Given the description of an element on the screen output the (x, y) to click on. 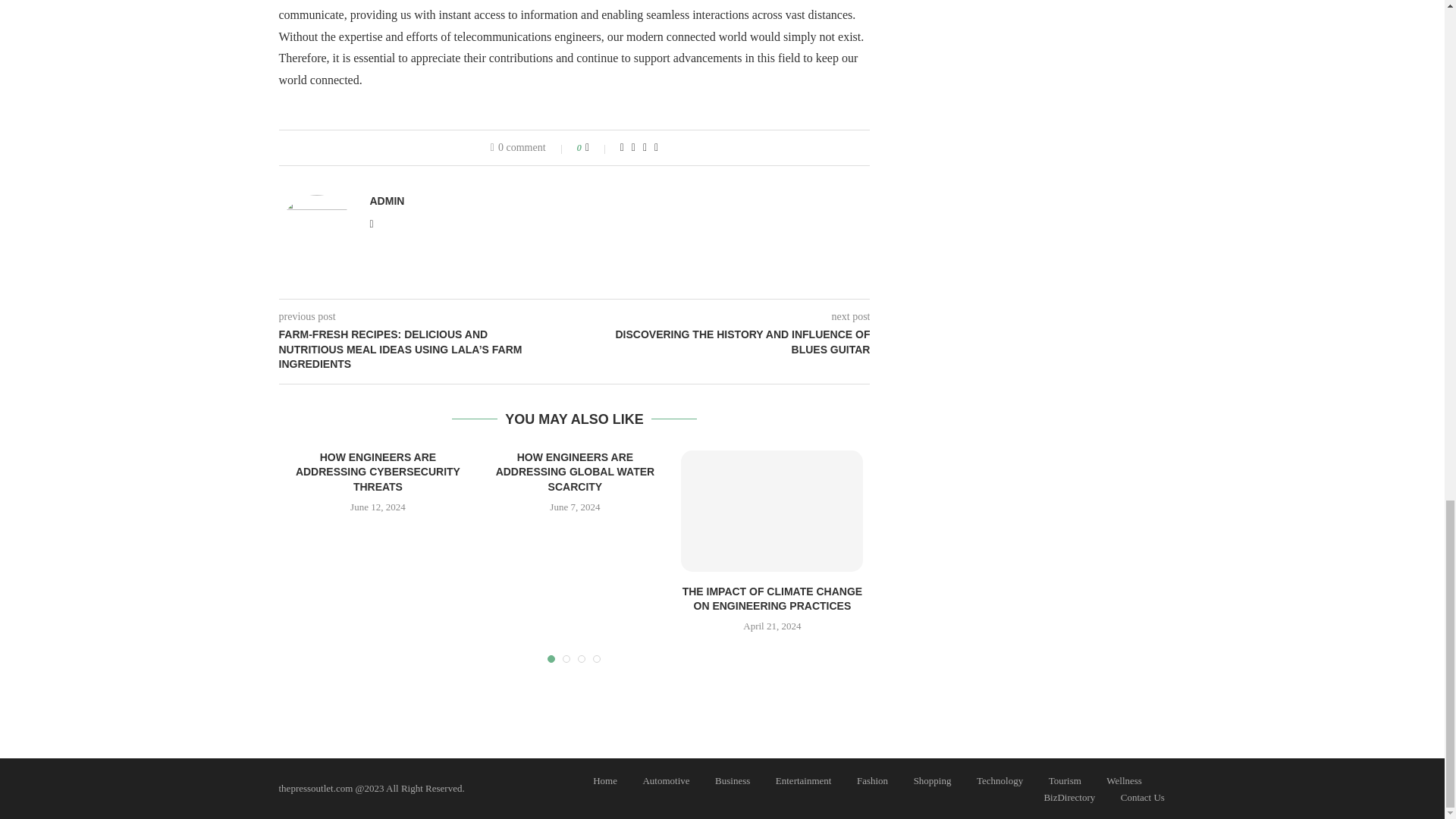
Like (597, 147)
Author admin (386, 200)
The impact of climate change on engineering practices (772, 510)
